Given the description of an element on the screen output the (x, y) to click on. 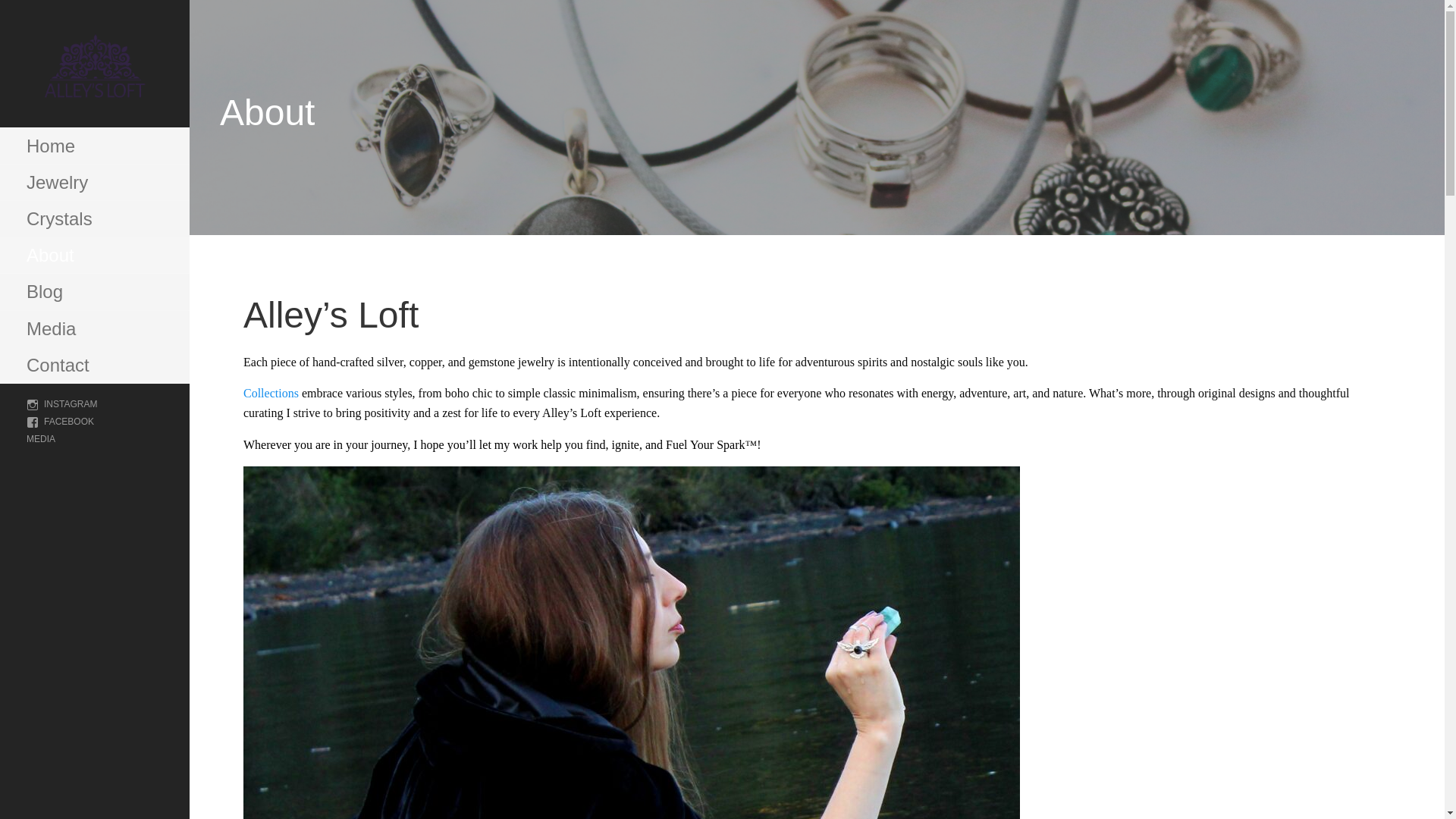
Blog (94, 291)
Crystals (94, 218)
INSTAGRAM (61, 403)
Jewelry (94, 182)
FACEBOOK (60, 421)
ALLEYSLOFT.COM (126, 113)
Contact (94, 365)
Collections (270, 392)
About (94, 255)
Media (94, 329)
